Given the description of an element on the screen output the (x, y) to click on. 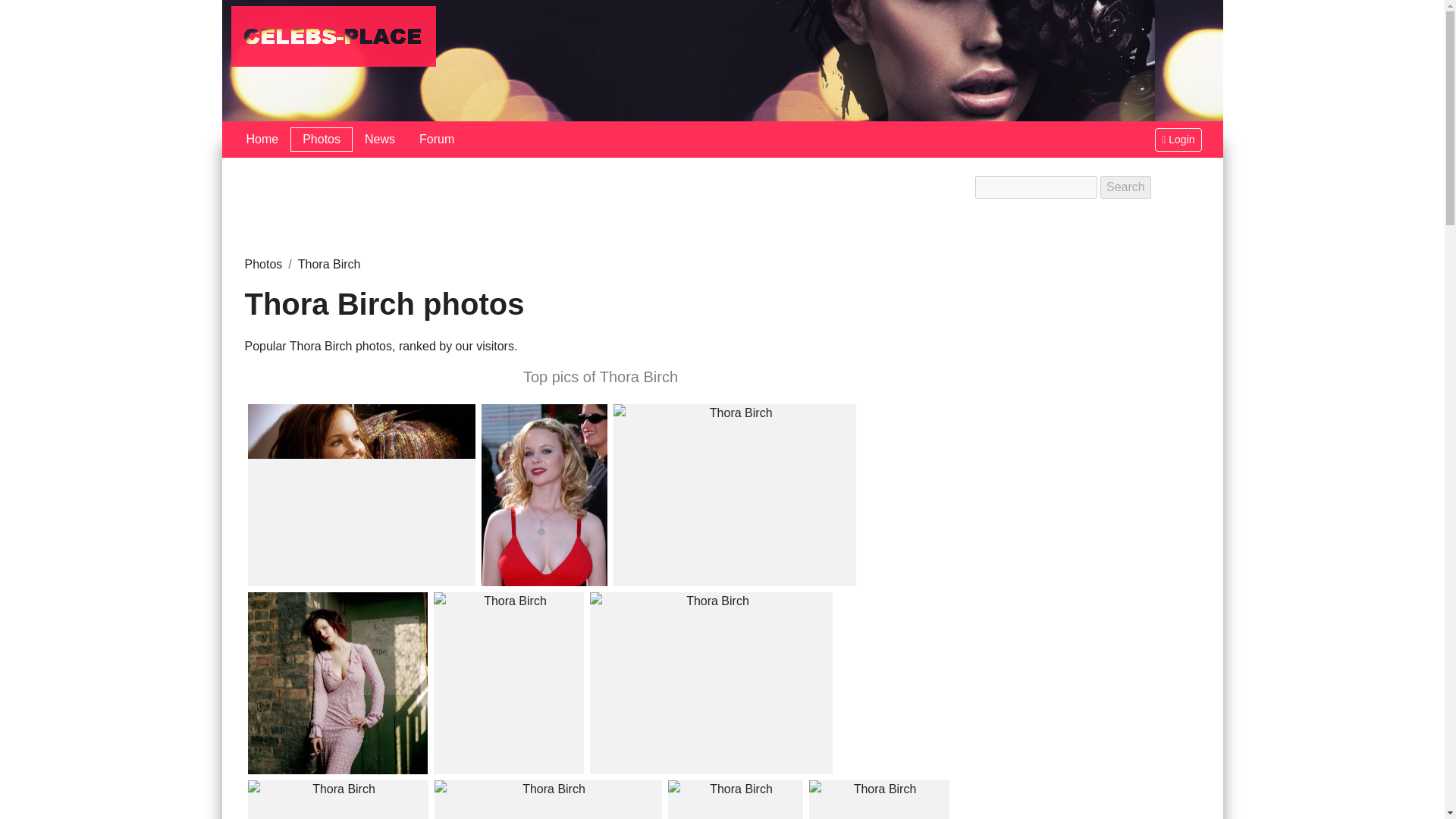
News (379, 139)
Photos (263, 264)
Photos (320, 139)
Thora Birch (329, 264)
Advertisement (600, 210)
Search (1125, 187)
Login (1177, 138)
Forum (436, 139)
Home (260, 139)
